Given the description of an element on the screen output the (x, y) to click on. 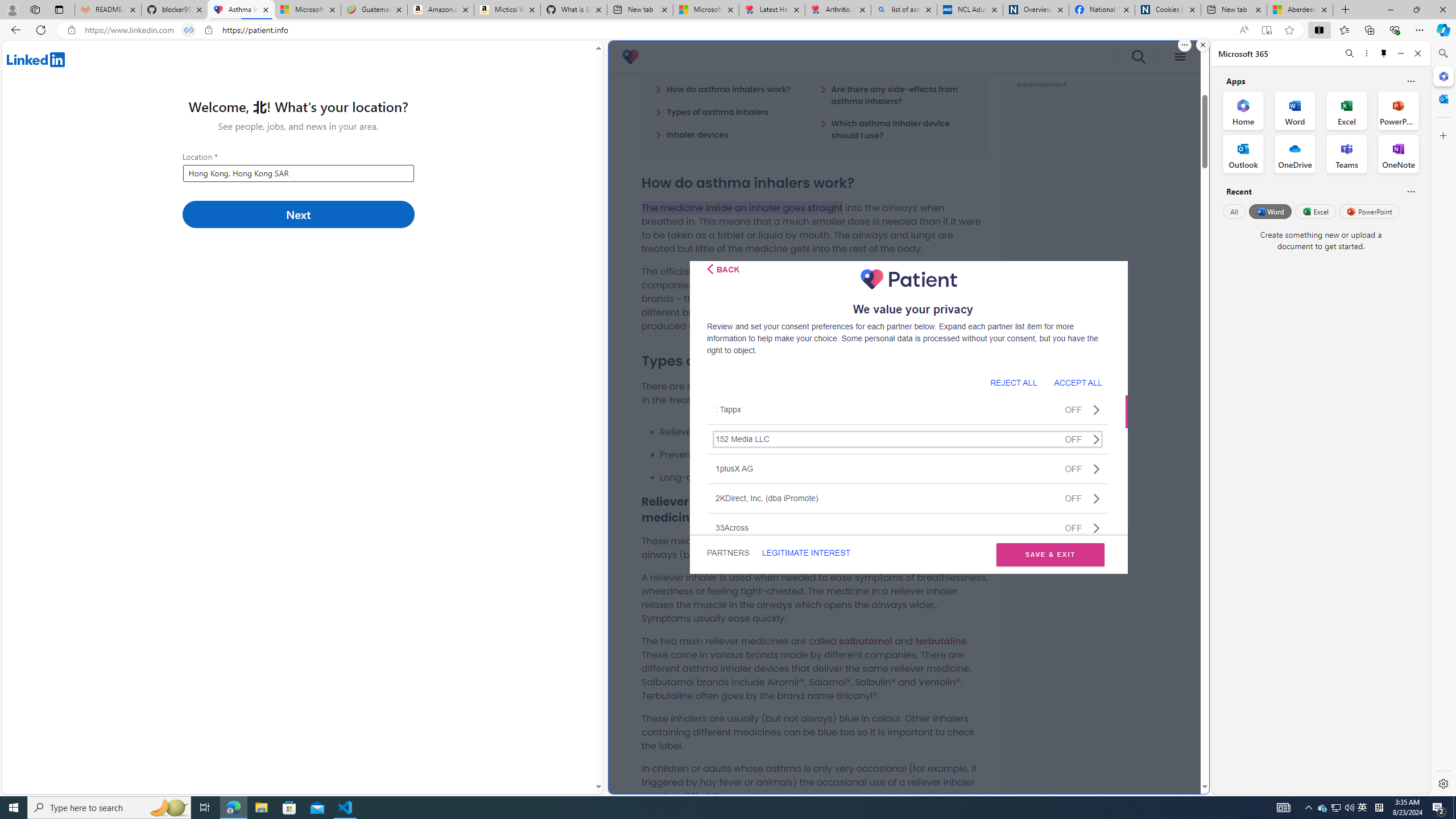
Types of asthma inhalers (711, 111)
Search (1442, 53)
